Given the description of an element on the screen output the (x, y) to click on. 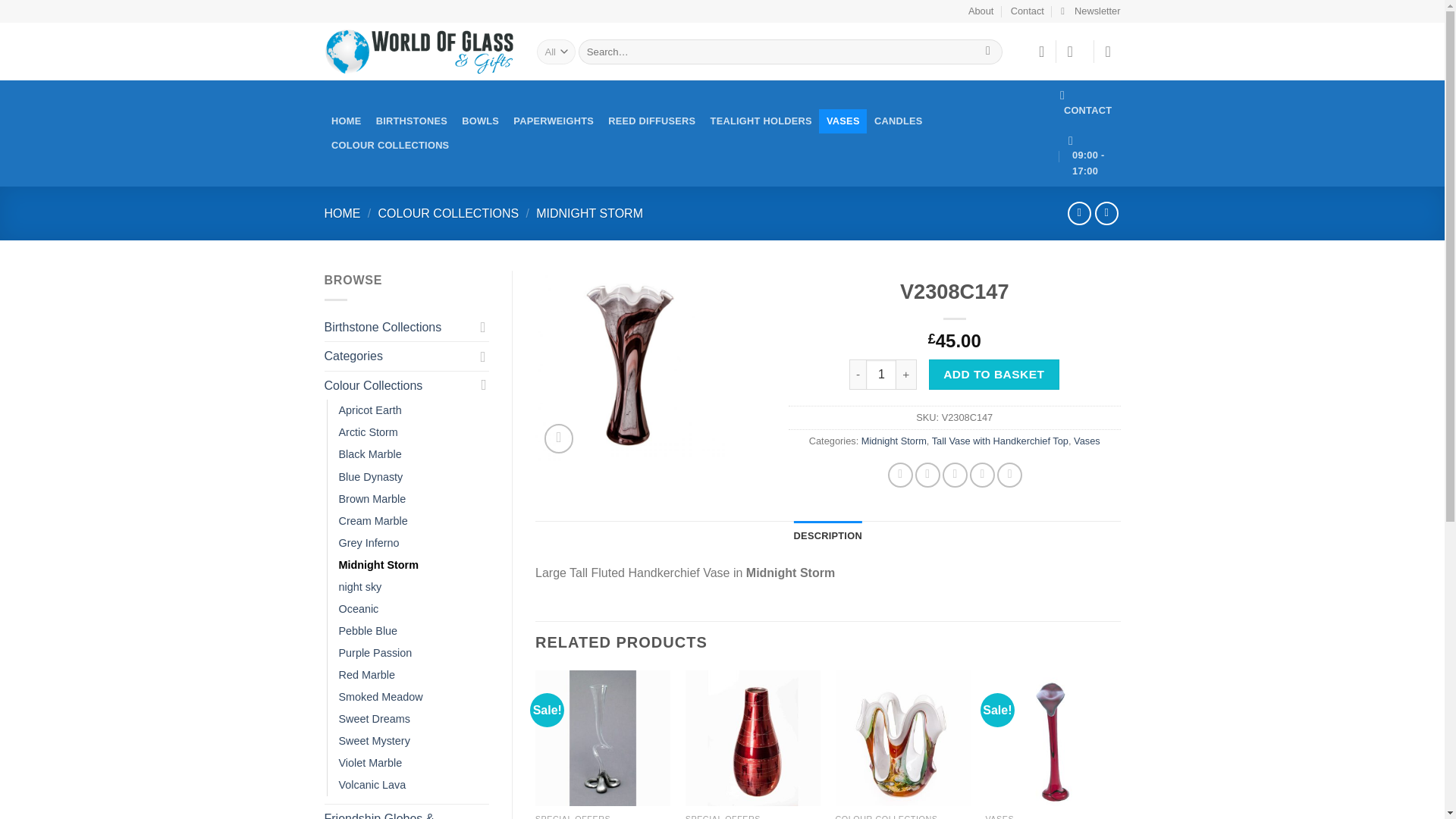
Email to a Friend (955, 474)
Share on Facebook (900, 474)
Search (988, 52)
COLOUR COLLECTIONS (447, 213)
Pin on Pinterest (981, 474)
BOWLS (480, 120)
Birthstone Collections (399, 327)
TEALIGHT HOLDERS (760, 120)
HOME (342, 213)
REED DIFFUSERS (652, 120)
Zoom (558, 438)
About (980, 11)
MIDNIGHT STORM (589, 213)
Categories (399, 356)
CANDLES (898, 120)
